Given the description of an element on the screen output the (x, y) to click on. 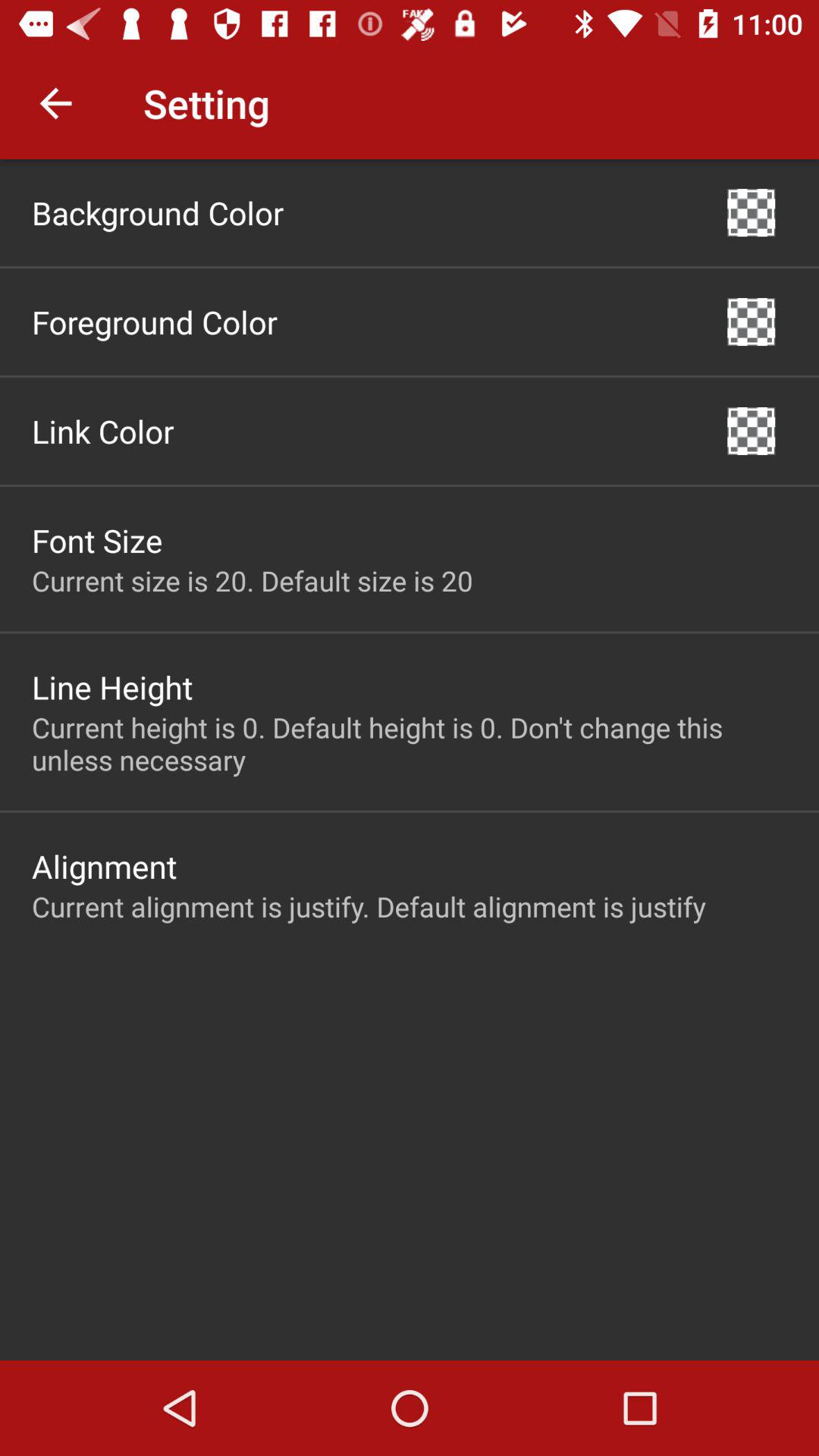
click item above foreground color icon (157, 212)
